Given the description of an element on the screen output the (x, y) to click on. 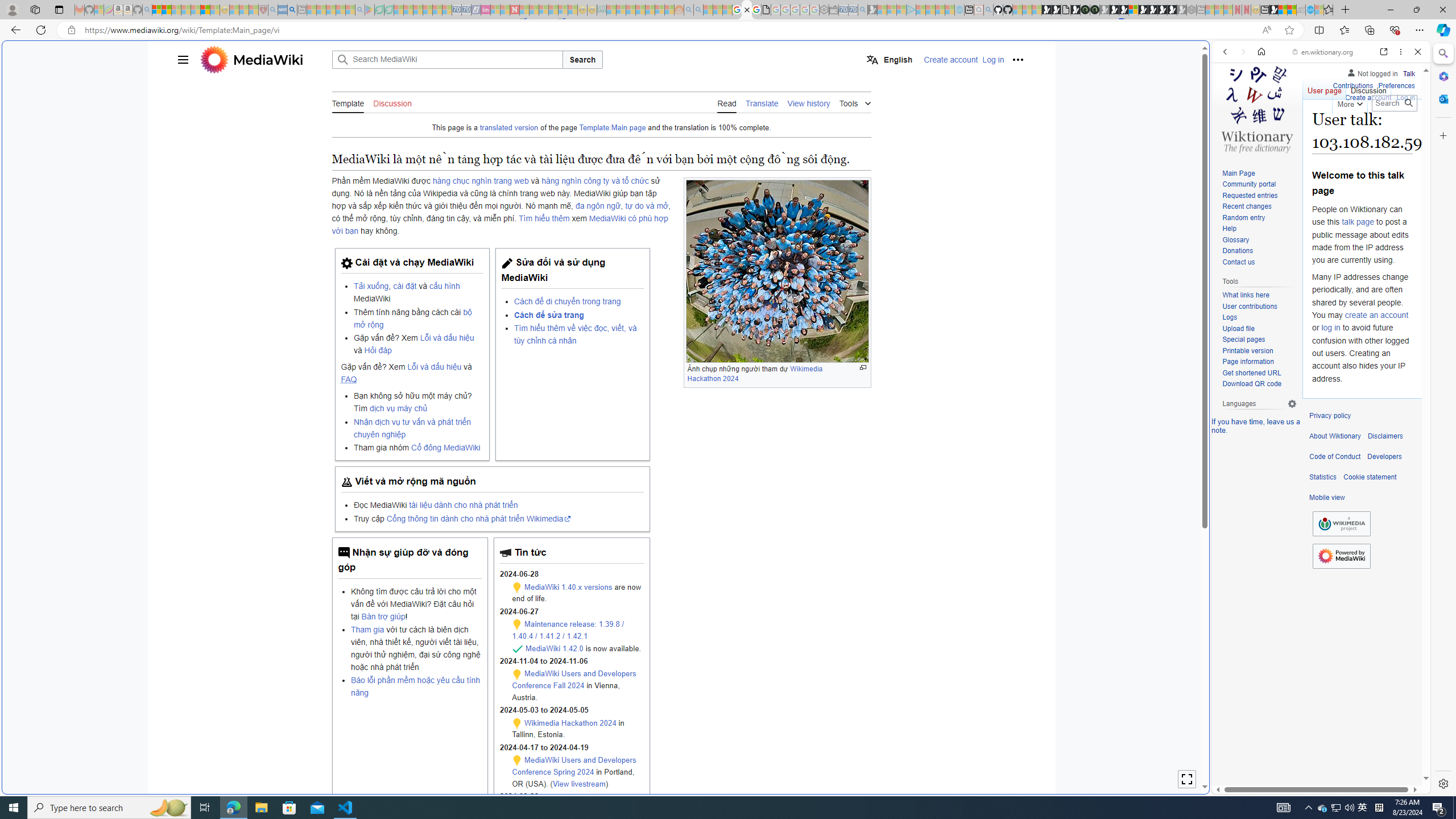
Mobile view (1326, 497)
FAQ (348, 379)
Toggle limited content width (1186, 778)
If you have time, leave us a note. (1255, 425)
English (889, 59)
